Given the description of an element on the screen output the (x, y) to click on. 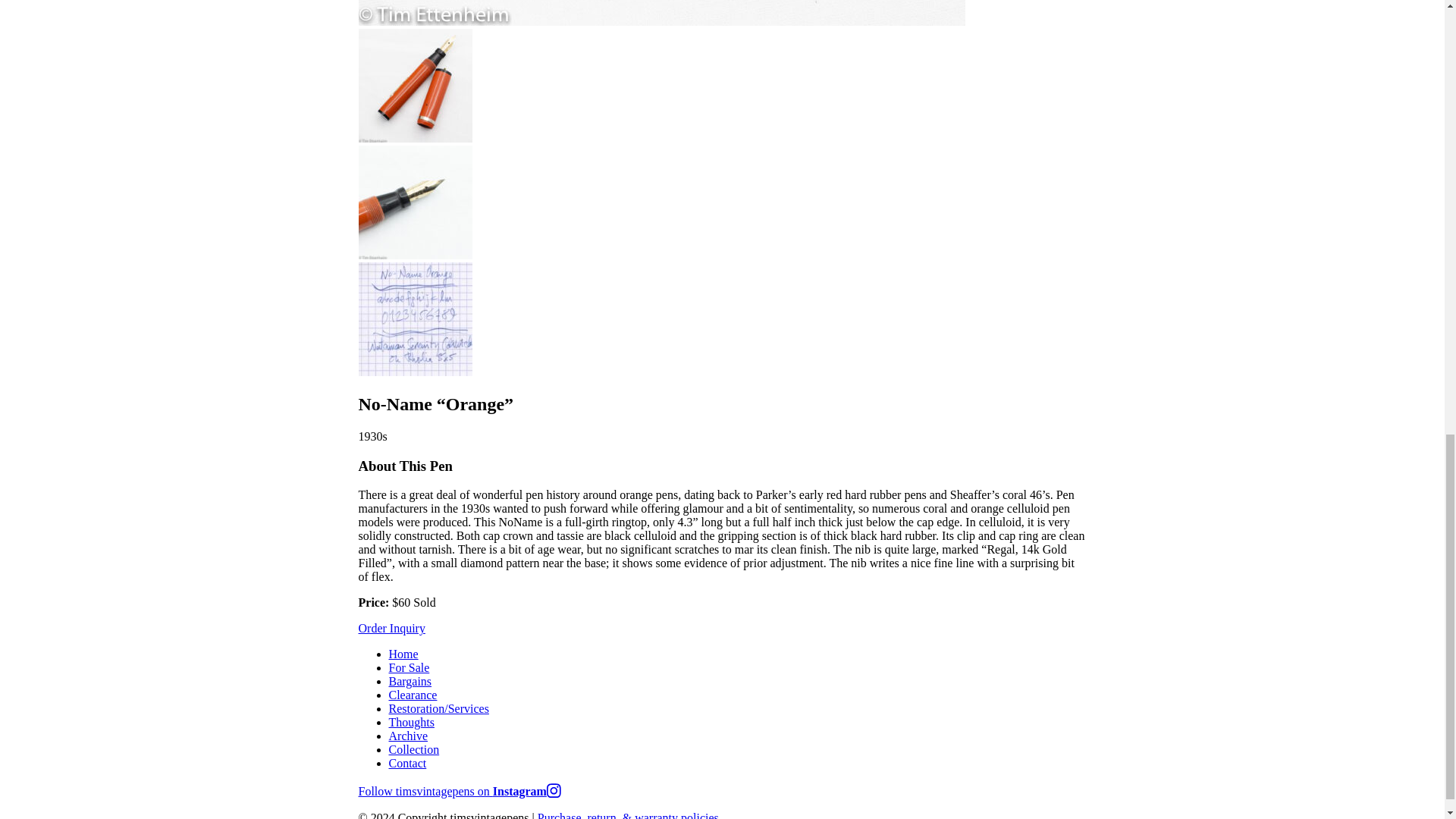
Collection (413, 748)
Thoughts (410, 721)
Archive (408, 735)
Contact (407, 762)
Order Inquiry (391, 627)
Bargains (409, 680)
Clearance (412, 694)
Follow timsvintagepens on Instagram (459, 790)
Home (402, 653)
For Sale (408, 667)
